Given the description of an element on the screen output the (x, y) to click on. 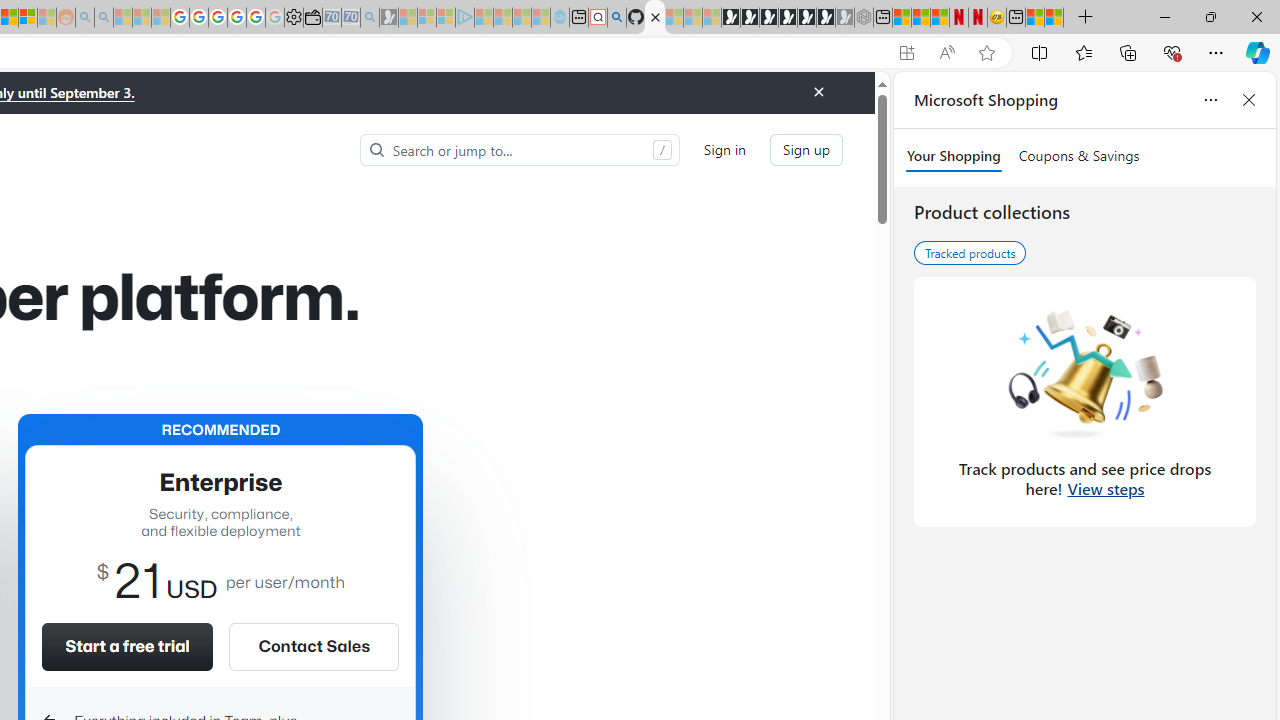
Start a free trial (127, 646)
Wildlife - MSN (1035, 17)
github - Search (616, 17)
